Given the description of an element on the screen output the (x, y) to click on. 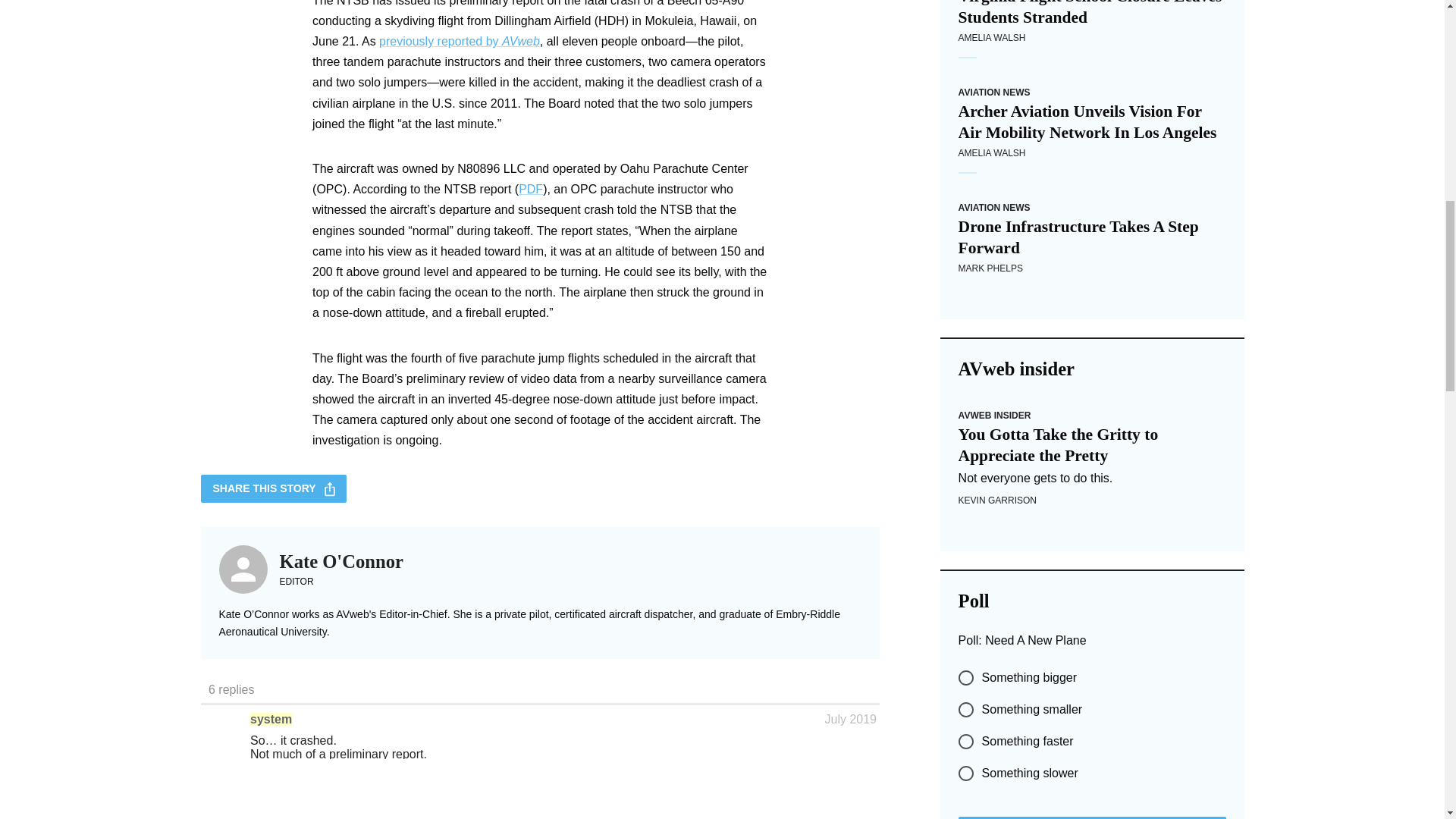
PDF (530, 188)
SHARE THIS STORY (273, 488)
AVweb (521, 41)
Kate O'Connor (341, 561)
Virginia Flight School Closure Leaves Students Stranded (1091, 13)
previously reported by (440, 41)
AMELIA WALSH (992, 37)
AVIATION NEWS (994, 91)
AMELIA WALSH (992, 153)
